Given the description of an element on the screen output the (x, y) to click on. 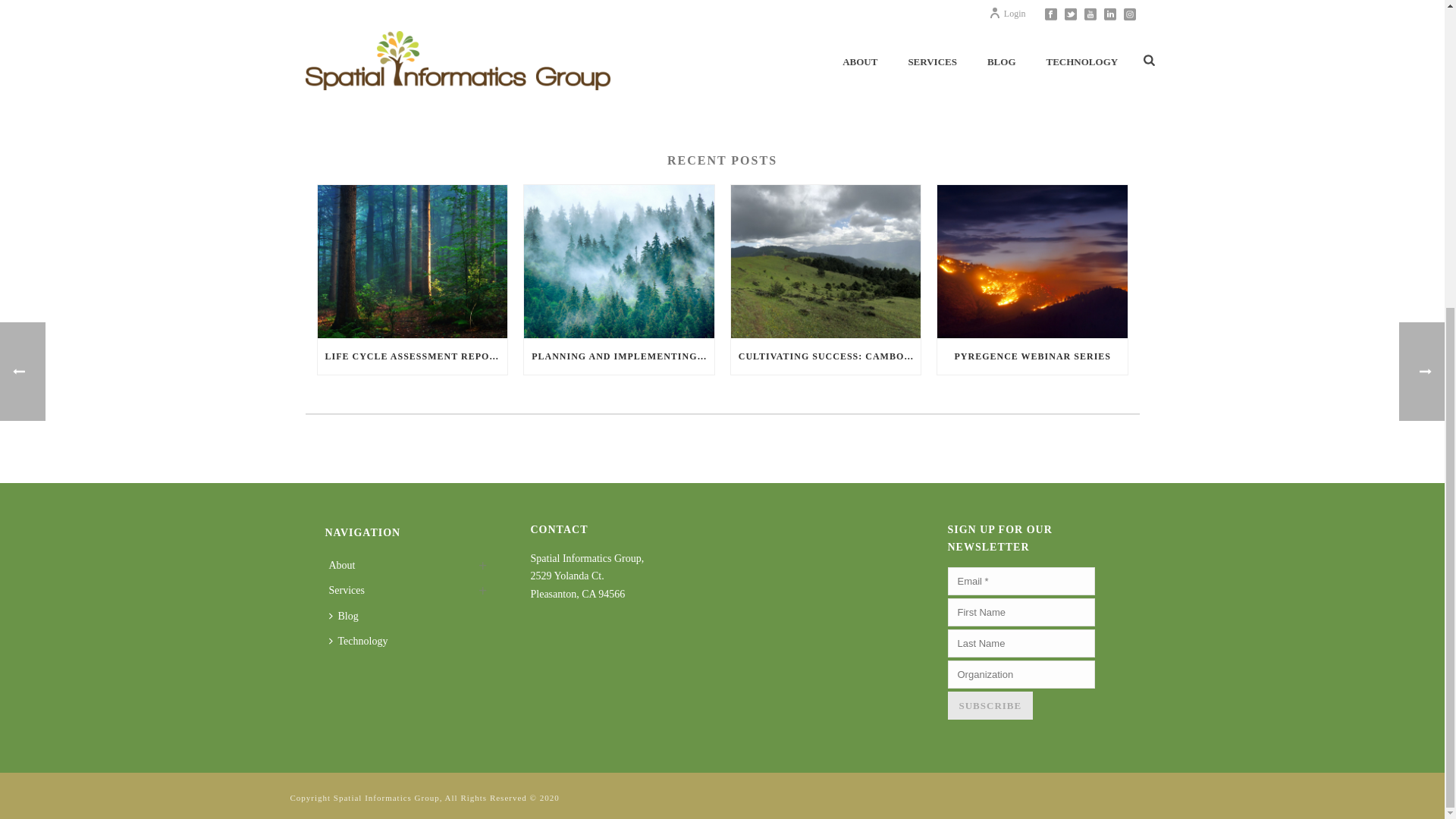
Subscribe (990, 705)
Pyregence Webinar Series (1031, 261)
